Given the description of an element on the screen output the (x, y) to click on. 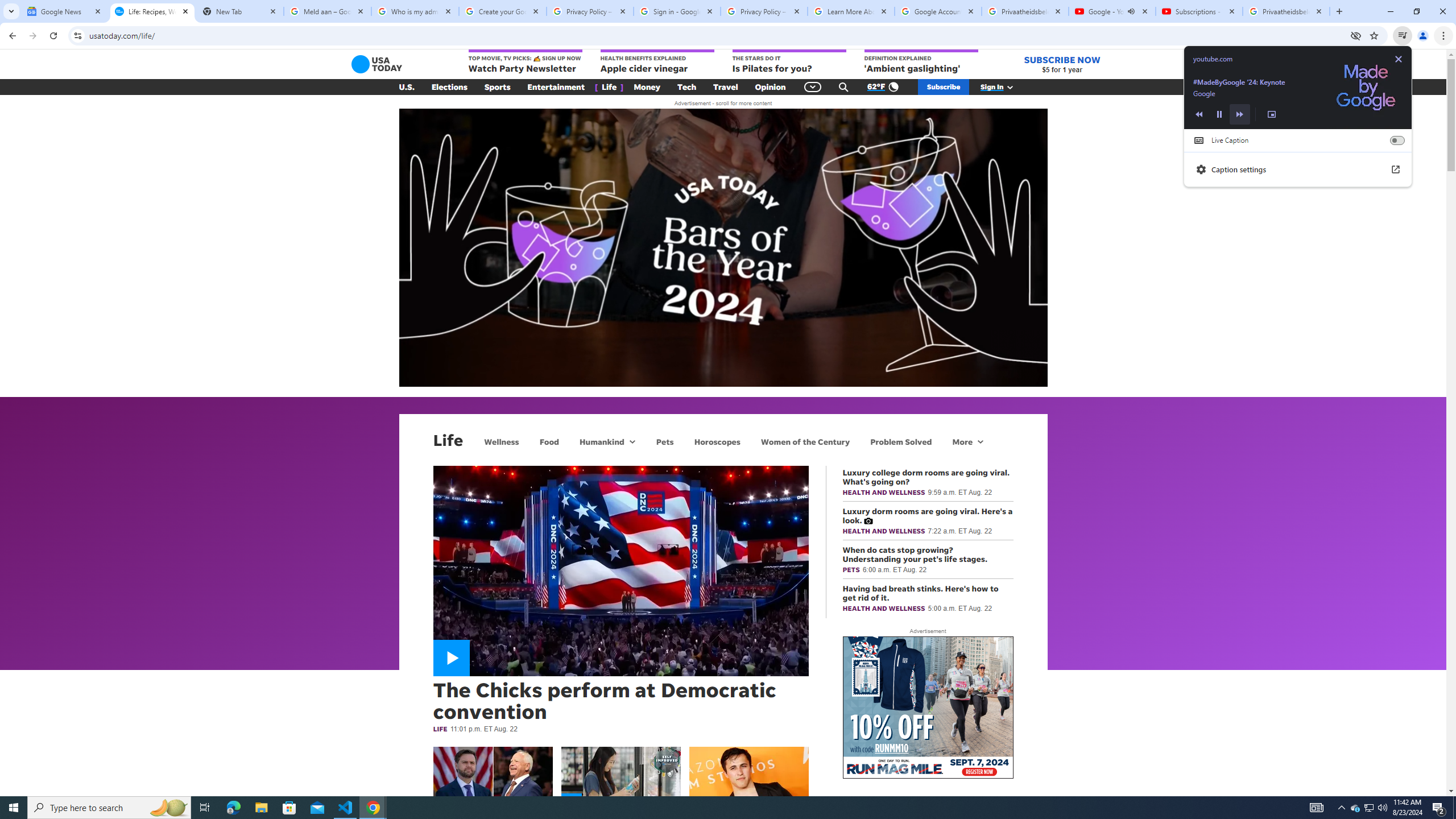
Tech (686, 87)
Google News (64, 11)
DEFINITION EXPLAINED 'Ambient gaslighting' (920, 62)
HEALTH BENEFITS EXPLAINED Apple cider vinegar (656, 62)
Notification Chevron (1341, 807)
Visual Studio Code - 1 running window (345, 807)
THE STARS DO IT Is Pilates for you? (788, 62)
Q2790: 100% (1382, 807)
Show desktop (1454, 807)
Caption settings  (1297, 169)
USA TODAY (376, 64)
